Given the description of an element on the screen output the (x, y) to click on. 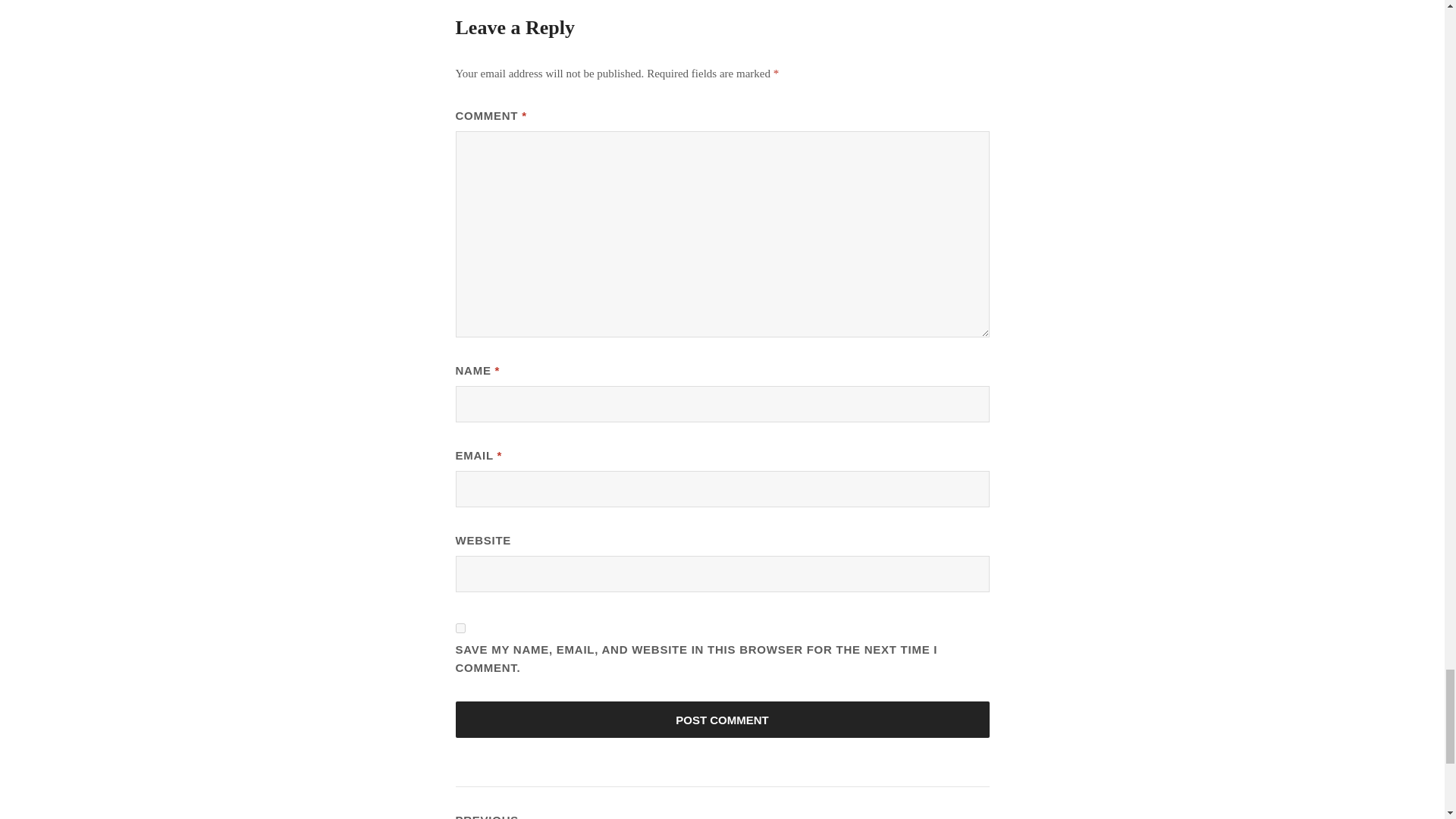
yes (459, 628)
Post Comment (721, 719)
Post Comment (721, 719)
